Given the description of an element on the screen output the (x, y) to click on. 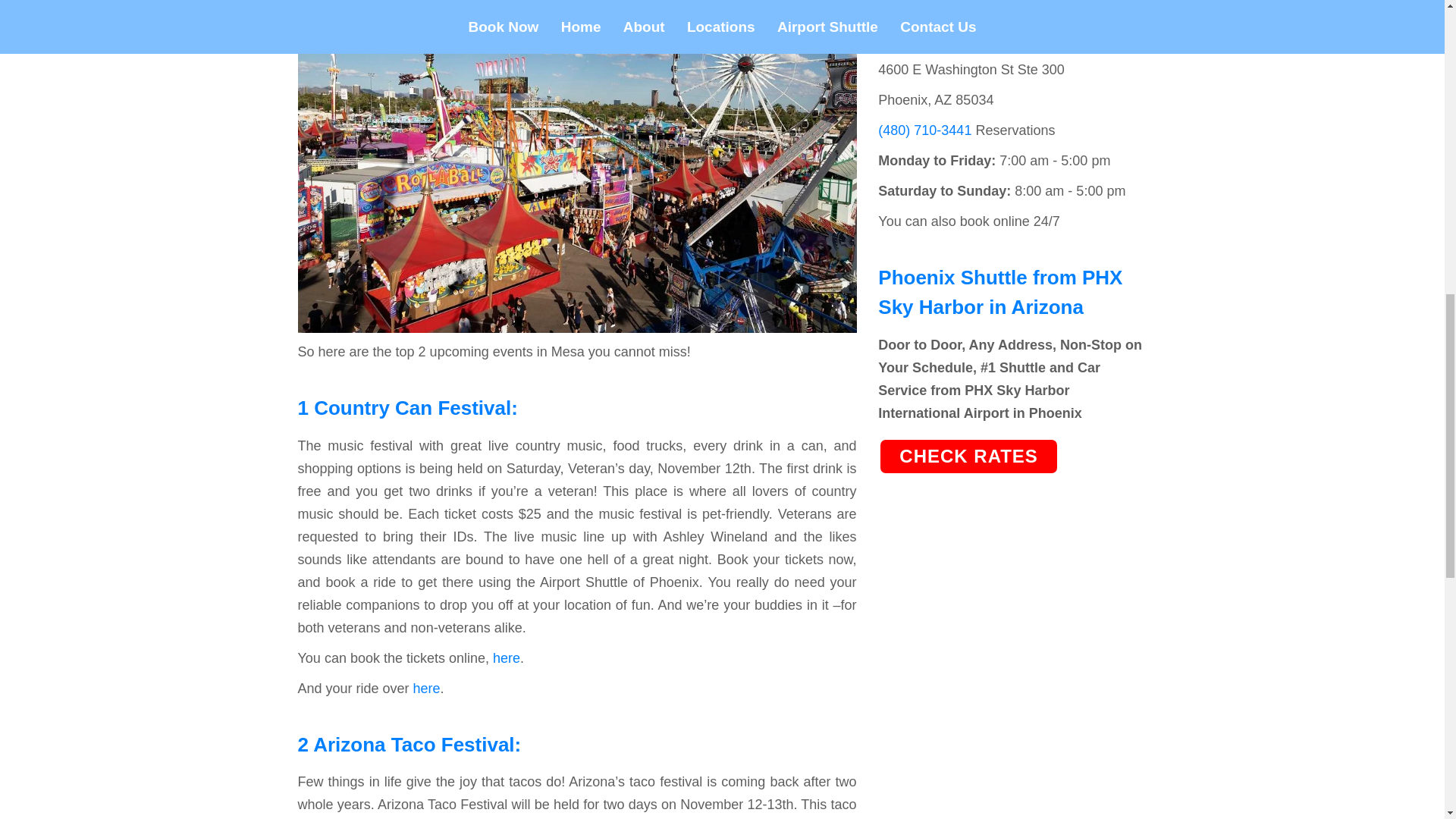
Airport Shuttle of Phoenix PHX Map (985, 25)
here (427, 688)
here (506, 657)
CHECK RATES (968, 455)
